Given the description of an element on the screen output the (x, y) to click on. 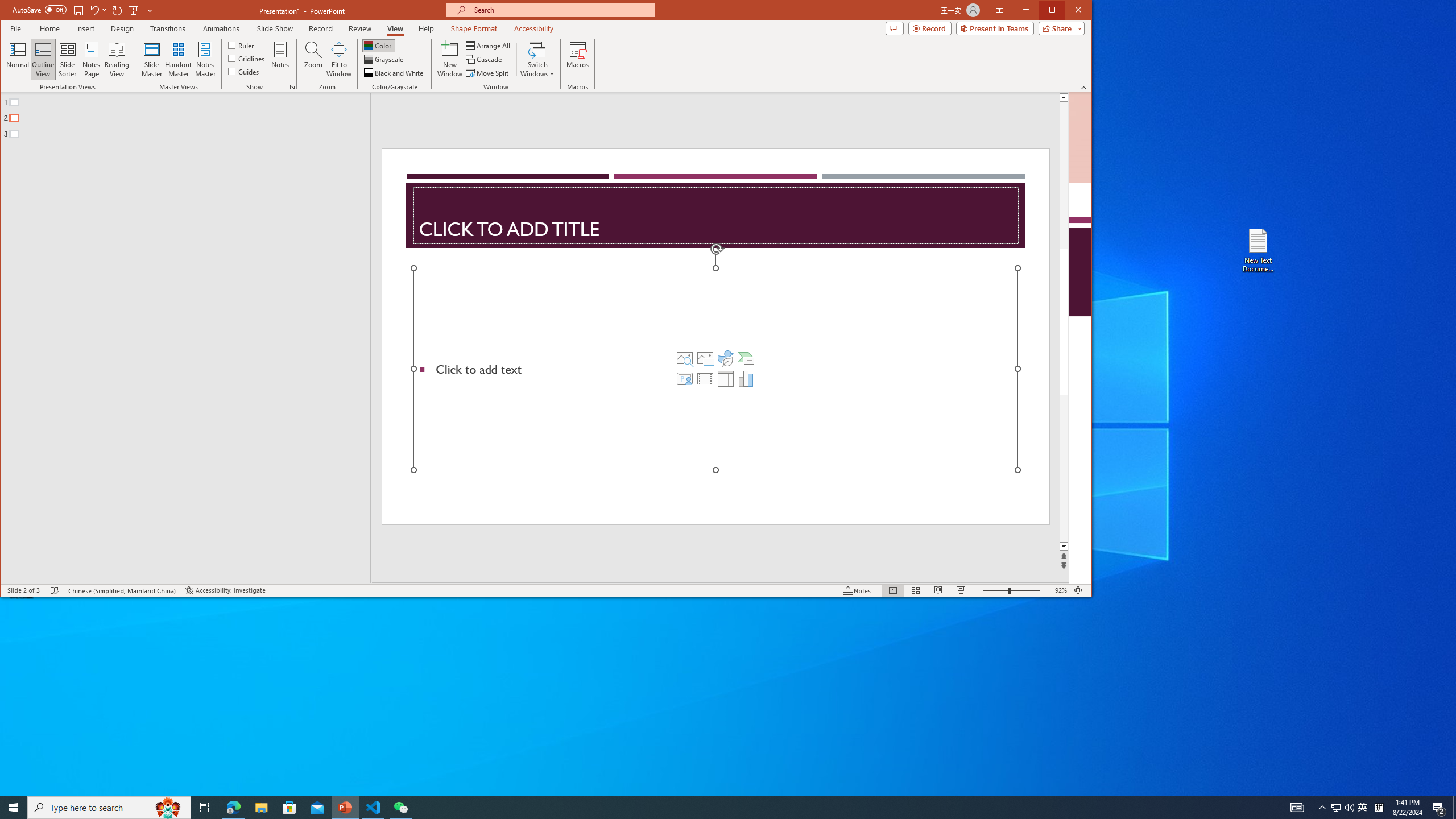
Move Split (488, 72)
Arrange All (488, 45)
Content Placeholder (715, 369)
